Given the description of an element on the screen output the (x, y) to click on. 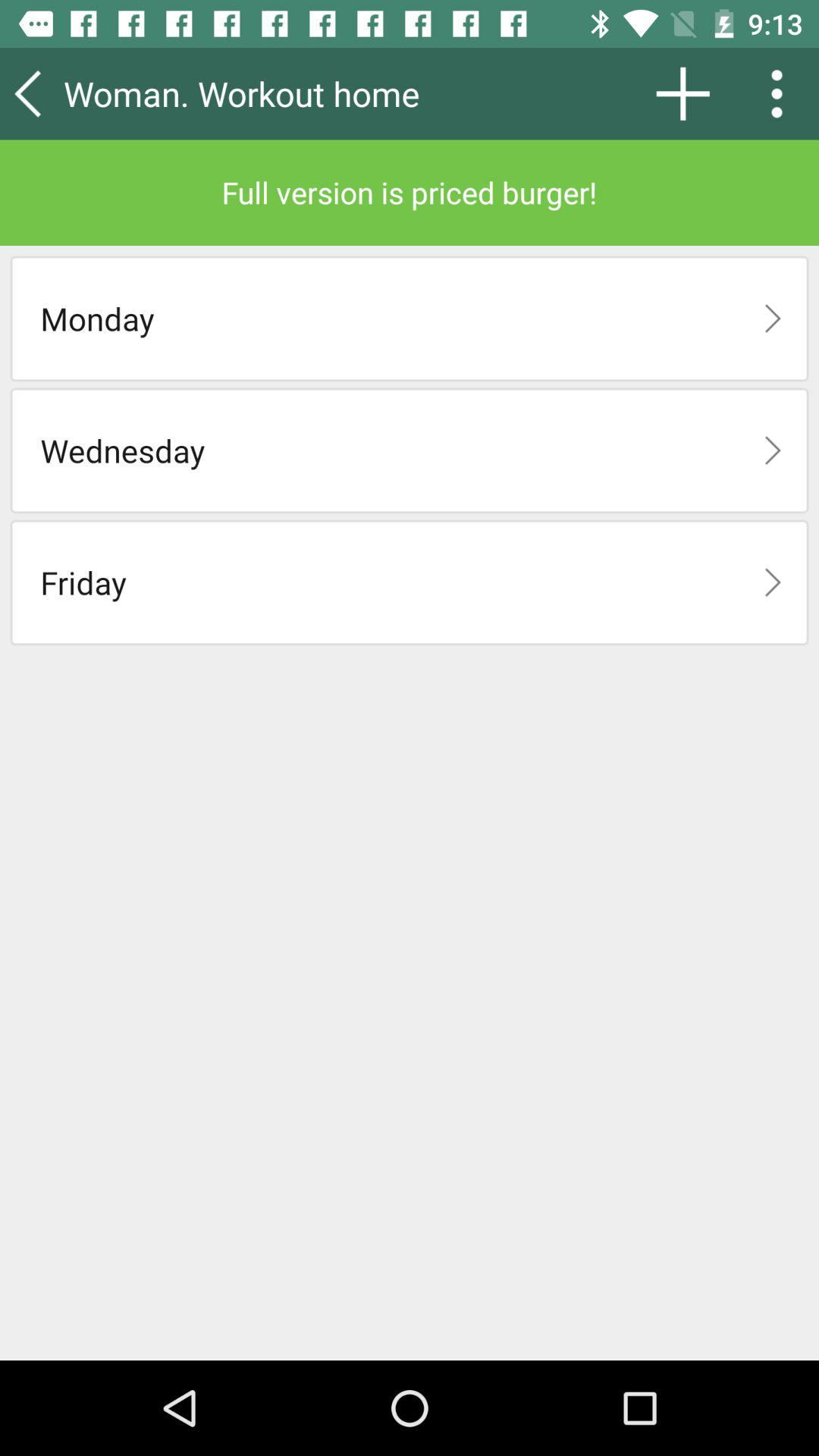
launch the woman. workout home item (284, 93)
